Given the description of an element on the screen output the (x, y) to click on. 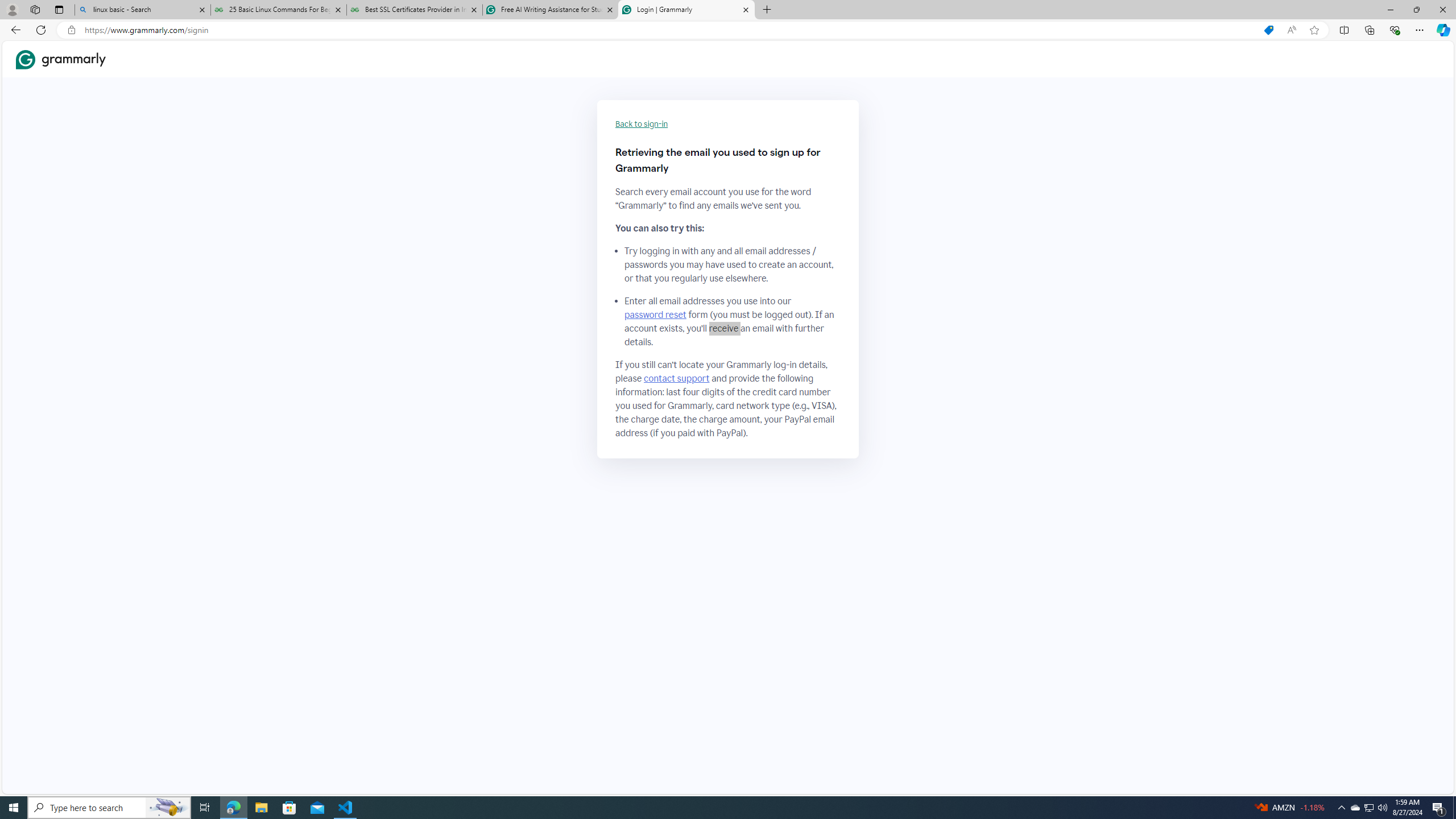
password reset (654, 314)
contact support (676, 378)
